Given the description of an element on the screen output the (x, y) to click on. 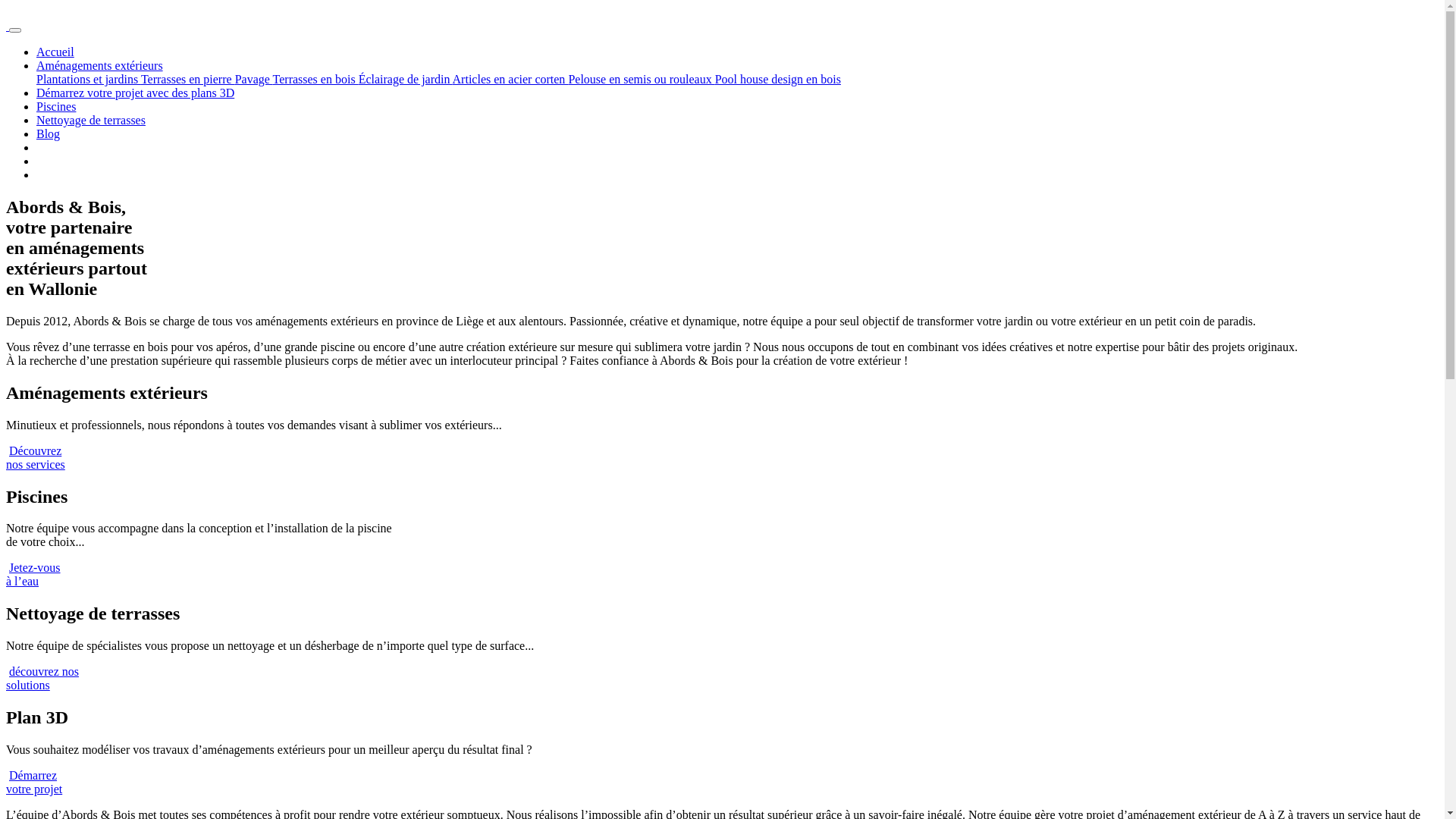
Blog Element type: text (47, 133)
Page Accueil Element type: hover (7, 25)
Pelouse en semis ou rouleaux Element type: text (640, 78)
Terrasses en pierre Element type: text (188, 78)
Pavage Element type: text (254, 78)
Pool house design en bois Element type: text (777, 78)
Terrasses en bois Element type: text (315, 78)
Accueil Element type: text (55, 51)
Nettoyage de terrasses Element type: text (90, 119)
Articles en acier corten Element type: text (510, 78)
Plantations et jardins Element type: text (88, 78)
Piscines Element type: text (55, 106)
